Given the description of an element on the screen output the (x, y) to click on. 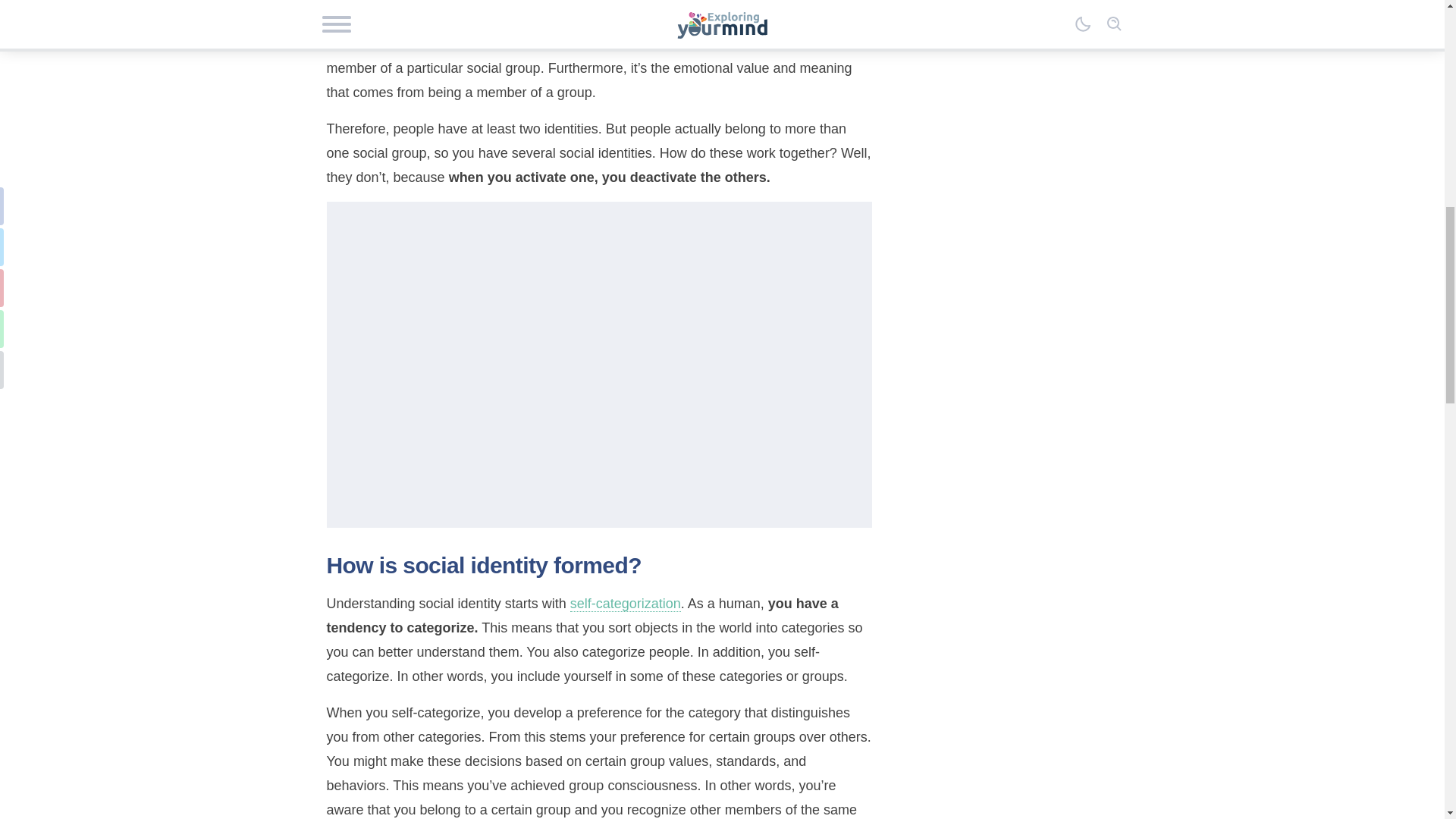
self-categorization (625, 603)
